Given the description of an element on the screen output the (x, y) to click on. 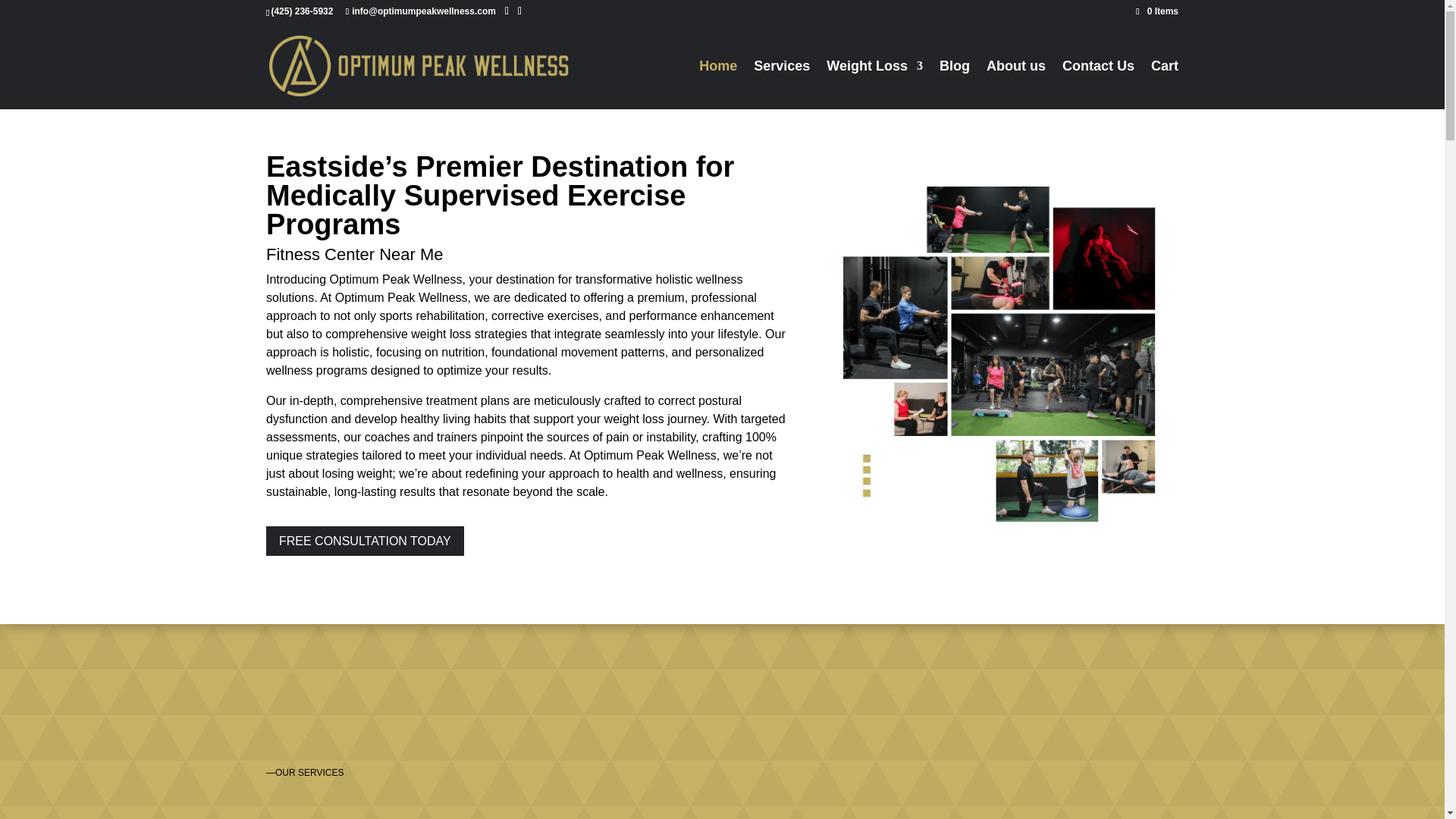
Weight Loss (875, 84)
Contact Us (1098, 84)
0 Items (1156, 10)
About us (1016, 84)
FREE CONSULTATION TODAY (365, 541)
Services (781, 84)
